Given the description of an element on the screen output the (x, y) to click on. 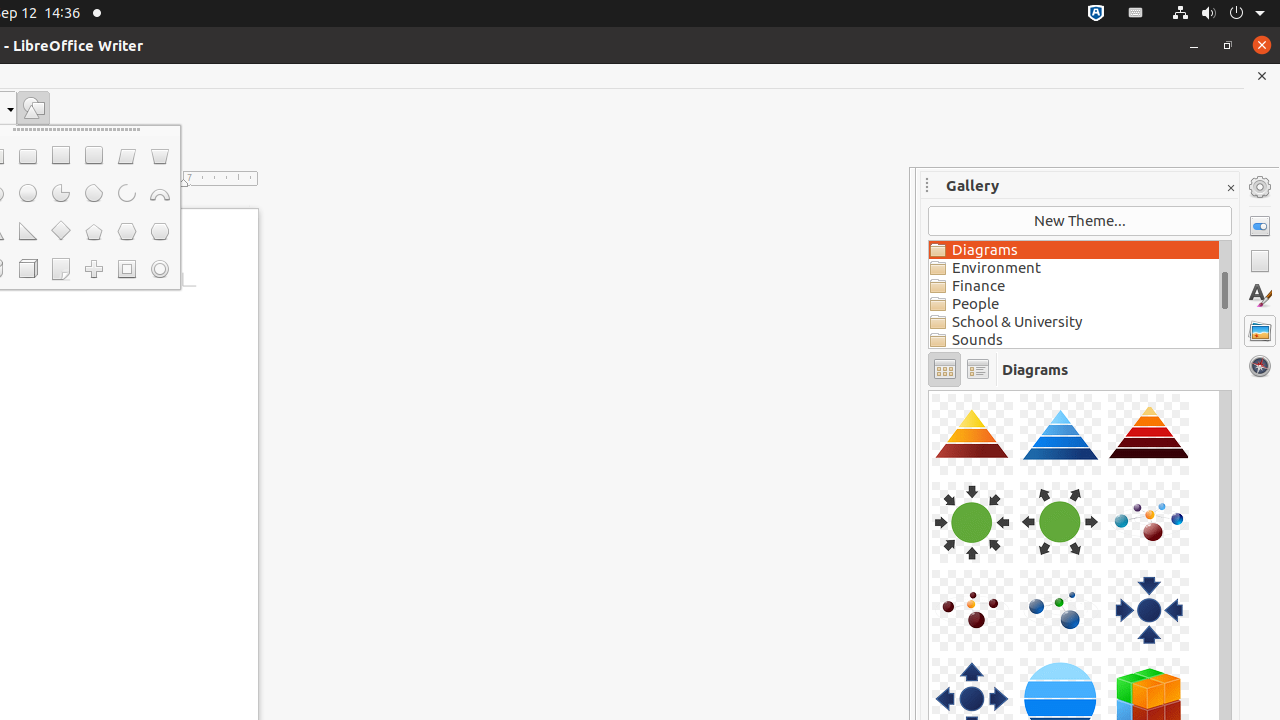
Decrease Element type: push-button (21, 147)
Ring Element type: toggle-button (159, 269)
School & University Element type: list-item (1074, 322)
Component-Sphere05-Orange Element type: list-item (929, 390)
Component-Cube04-Orange Element type: list-item (929, 390)
